Given the description of an element on the screen output the (x, y) to click on. 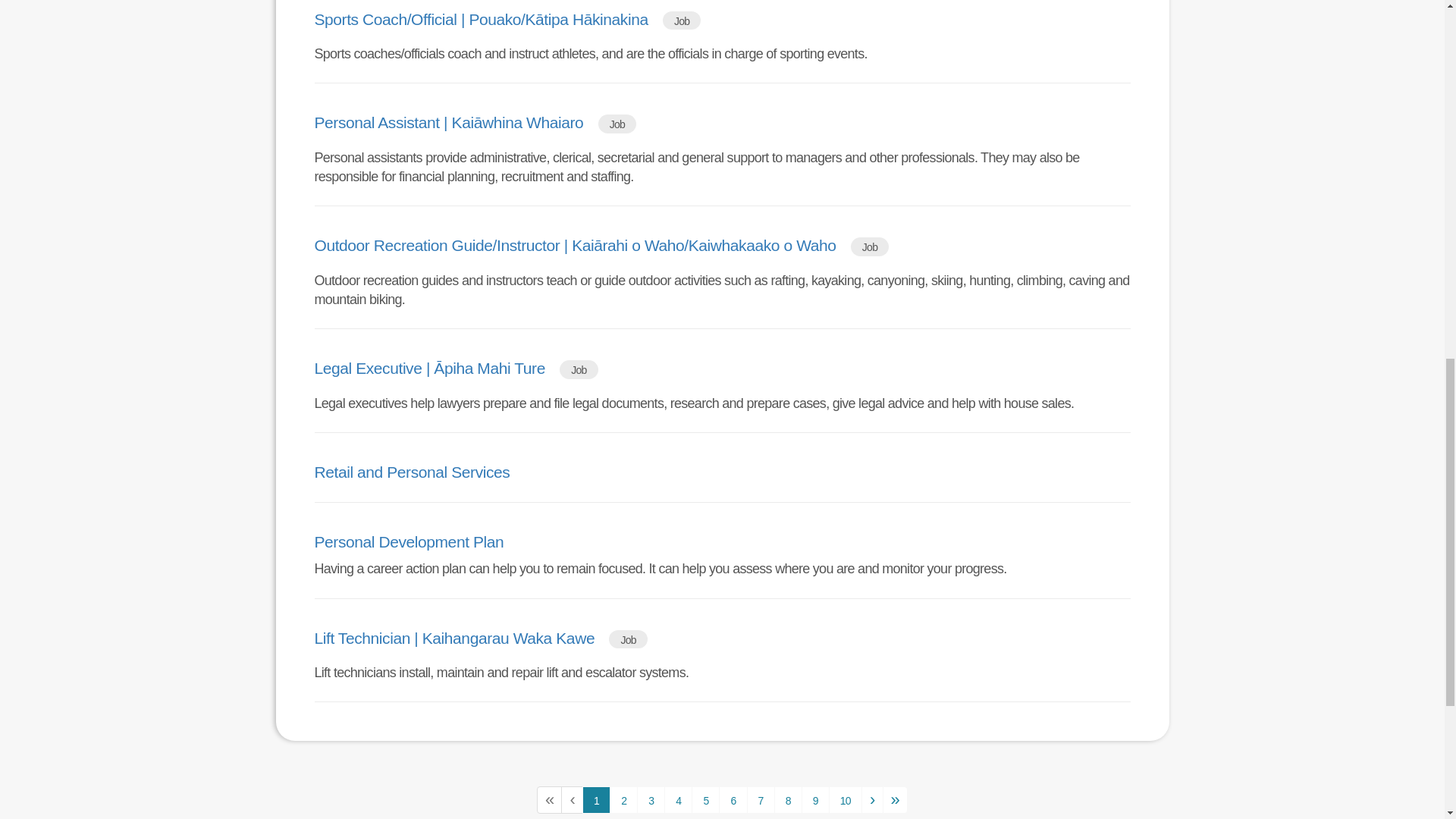
View page number 4 (678, 800)
View page number 9 (815, 800)
View page number 1 (596, 800)
View page number 8 (788, 800)
View page number 2 (623, 800)
View page number 7 (760, 800)
View page number 5 (705, 800)
View page number 6 (732, 800)
View page number 3 (651, 800)
View page number 10 (844, 800)
